Given the description of an element on the screen output the (x, y) to click on. 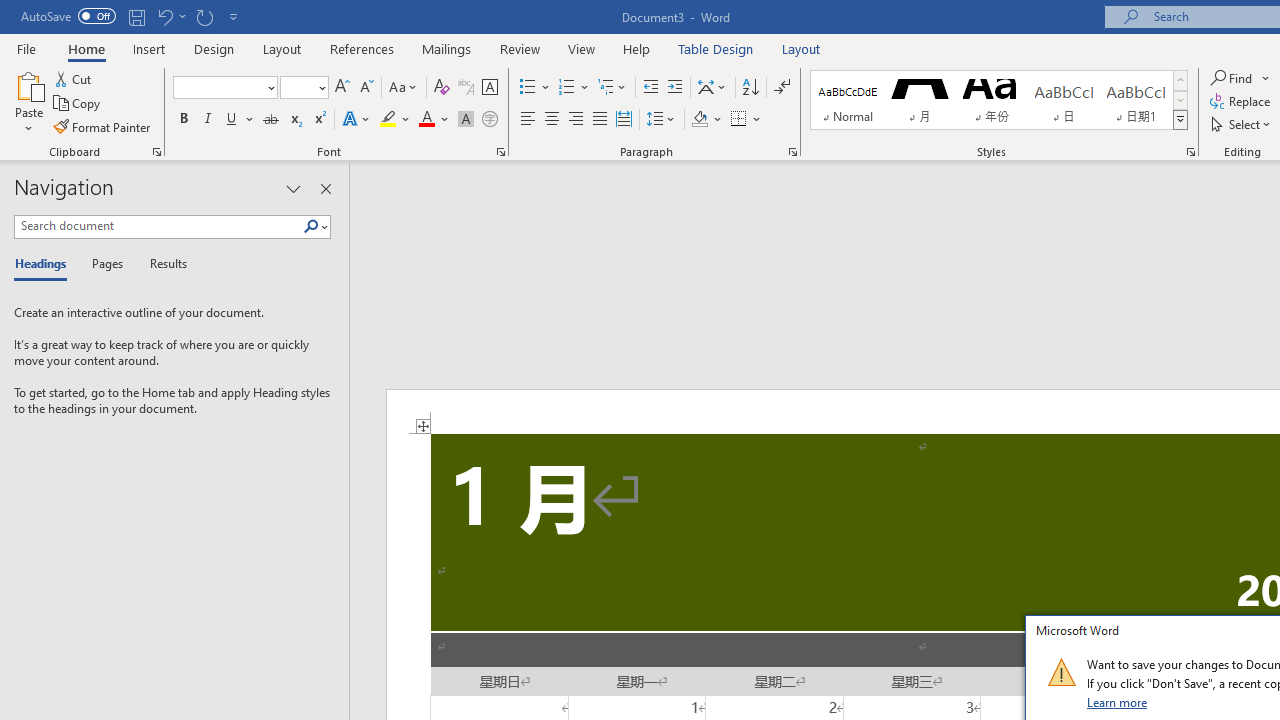
Styles... (1190, 151)
Line and Paragraph Spacing (661, 119)
Center (552, 119)
Replace... (1242, 101)
Font Color (434, 119)
Grow Font (342, 87)
Cut (73, 78)
